Given the description of an element on the screen output the (x, y) to click on. 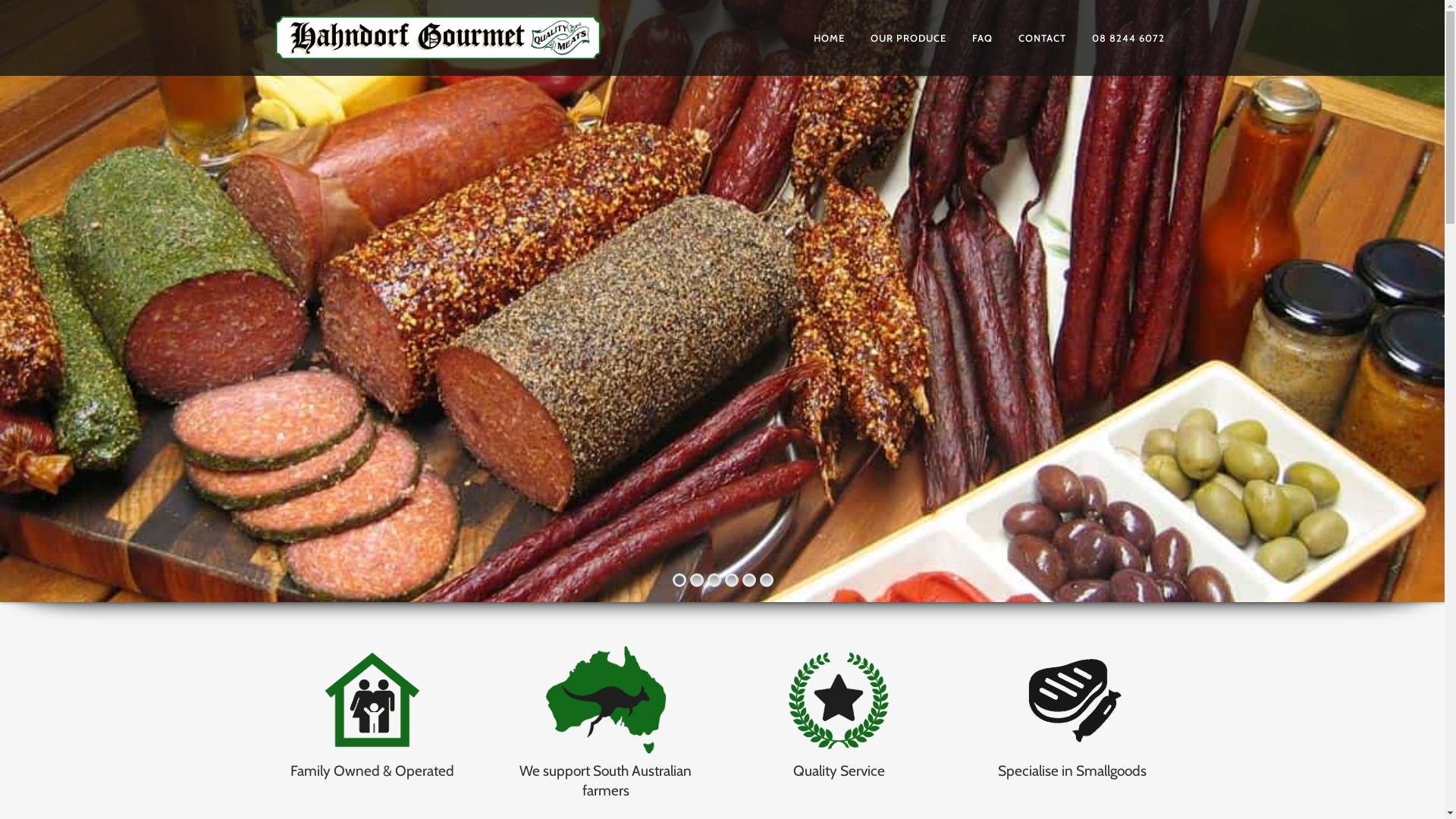
OUR PRODUCE Element type: text (907, 37)
hg-pod8-01 Element type: hover (838, 700)
08 8244 6072 Element type: text (1127, 37)
hg-pod12-01 Element type: hover (372, 700)
CONTACT Element type: text (1042, 37)
hg-pod10-01 Element type: hover (1071, 700)
icon2 Element type: hover (605, 700)
FAQ Element type: text (981, 37)
HOME Element type: text (828, 37)
